Given the description of an element on the screen output the (x, y) to click on. 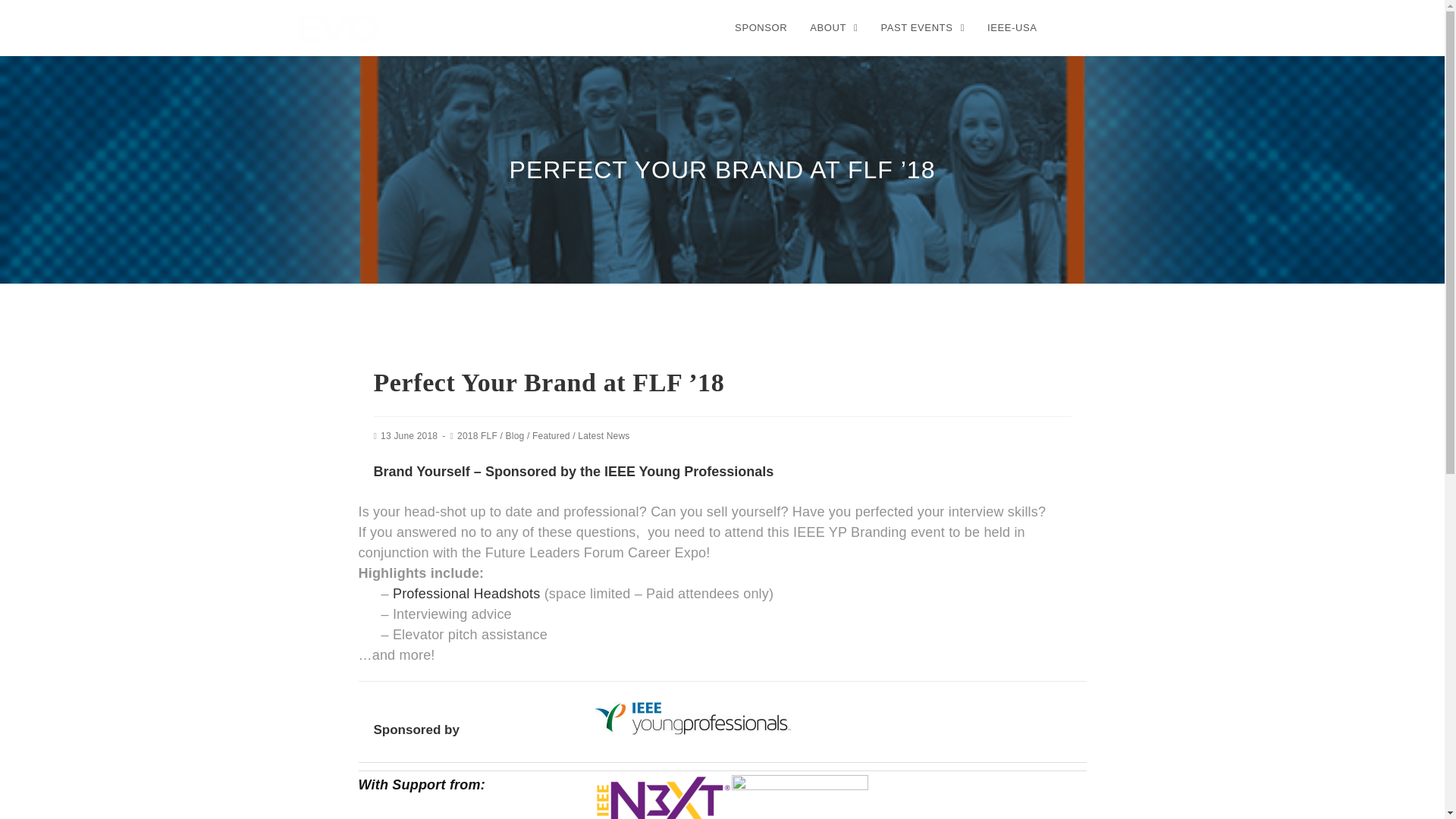
2018 FLF (477, 435)
Latest News (603, 435)
PAST EVENTS (922, 28)
SPONSOR (760, 28)
IEEE-USA (1011, 28)
Professional Headshots (466, 593)
Featured (551, 435)
ABOUT (833, 28)
Blog (514, 435)
